Given the description of an element on the screen output the (x, y) to click on. 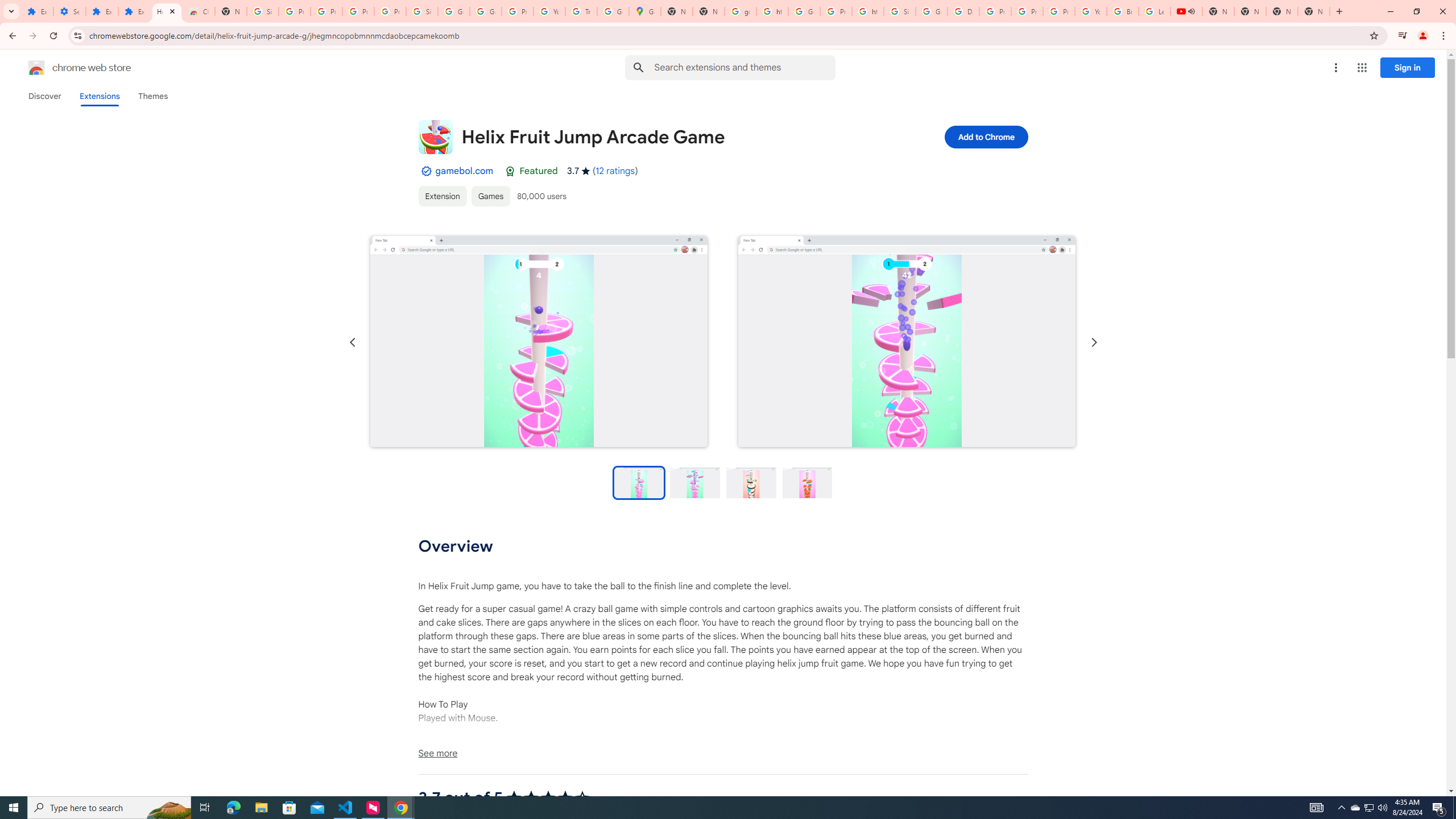
Sign in - Google Accounts (421, 11)
Helix Fruit Jump Arcade Game - Chrome Web Store (166, 11)
Search input (744, 67)
By Established Publisher Badge (425, 170)
3.7 out of 5 stars (548, 797)
